Given the description of an element on the screen output the (x, y) to click on. 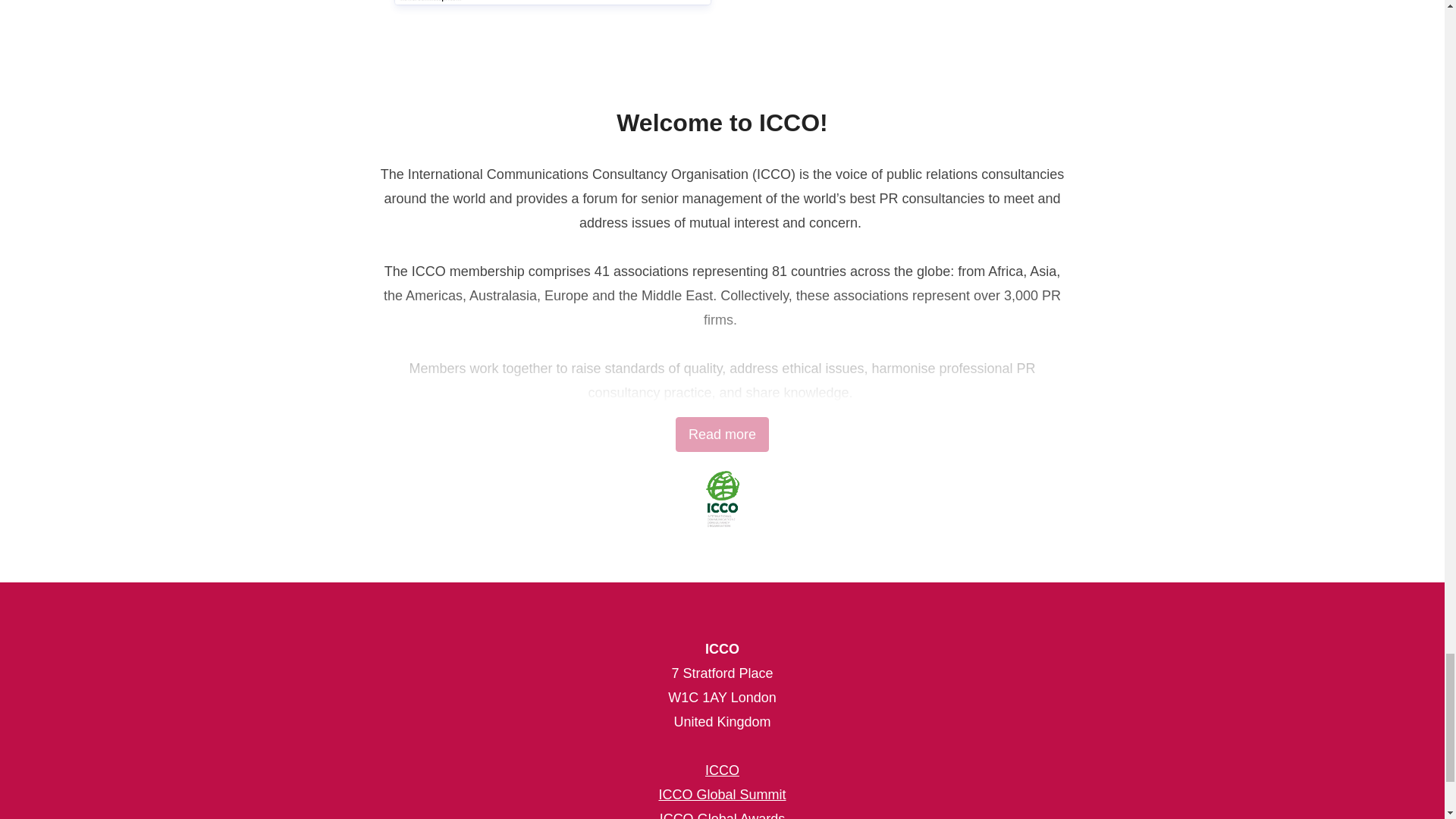
ICCO Global Awards (722, 815)
ICCO Global Summit (722, 794)
ICCO (721, 770)
Read more (721, 434)
